Given the description of an element on the screen output the (x, y) to click on. 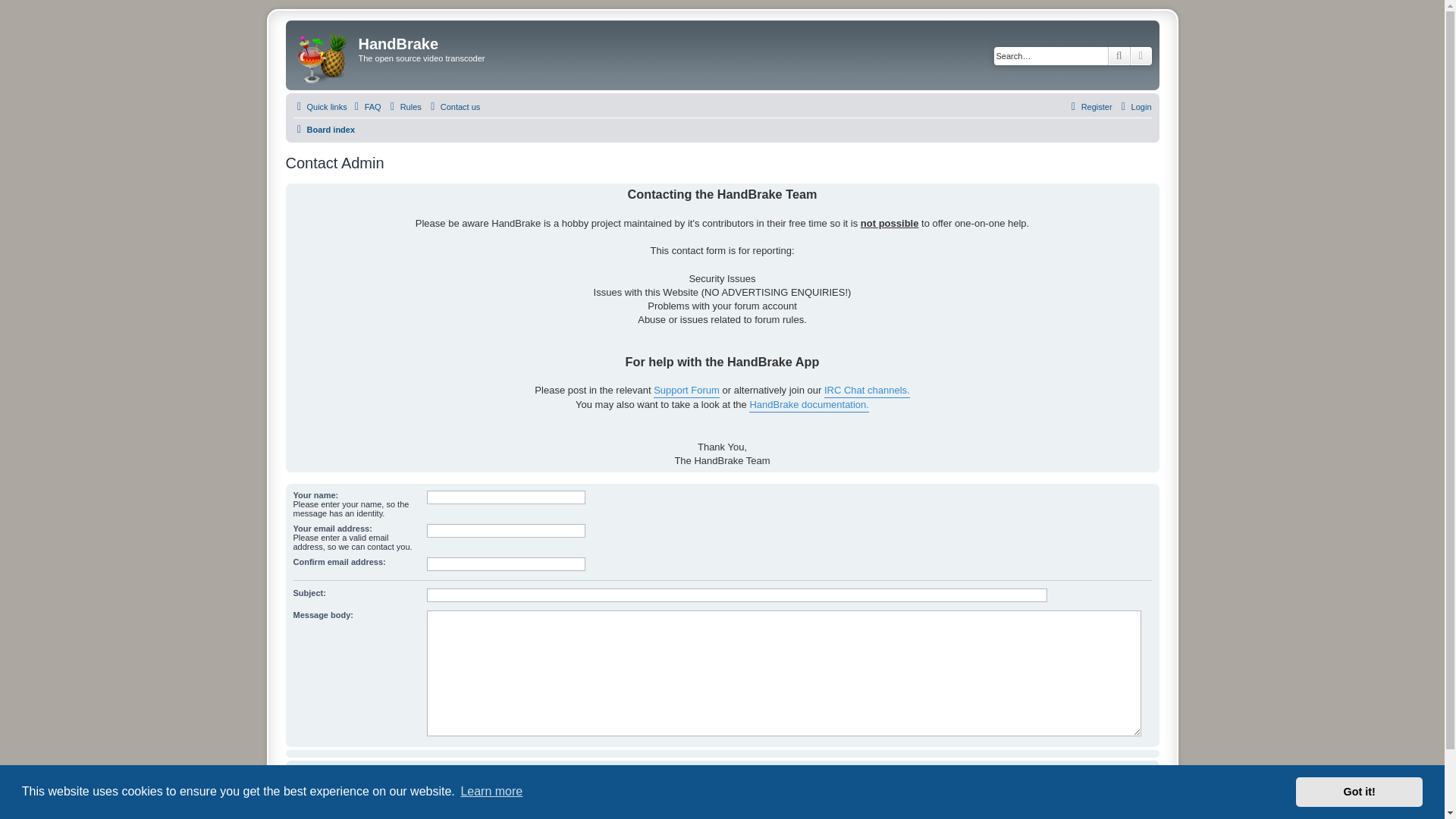
Register (1089, 106)
FAQ (365, 106)
UTC (1142, 808)
Support Forum (686, 391)
Login (1134, 106)
IRC Chat channels. (867, 391)
Rules (404, 106)
Learn more (491, 791)
Board index (323, 55)
Board index (323, 808)
Board index (323, 129)
Login (1134, 106)
Search (1119, 55)
Contact us (980, 808)
Submit (720, 775)
